Given the description of an element on the screen output the (x, y) to click on. 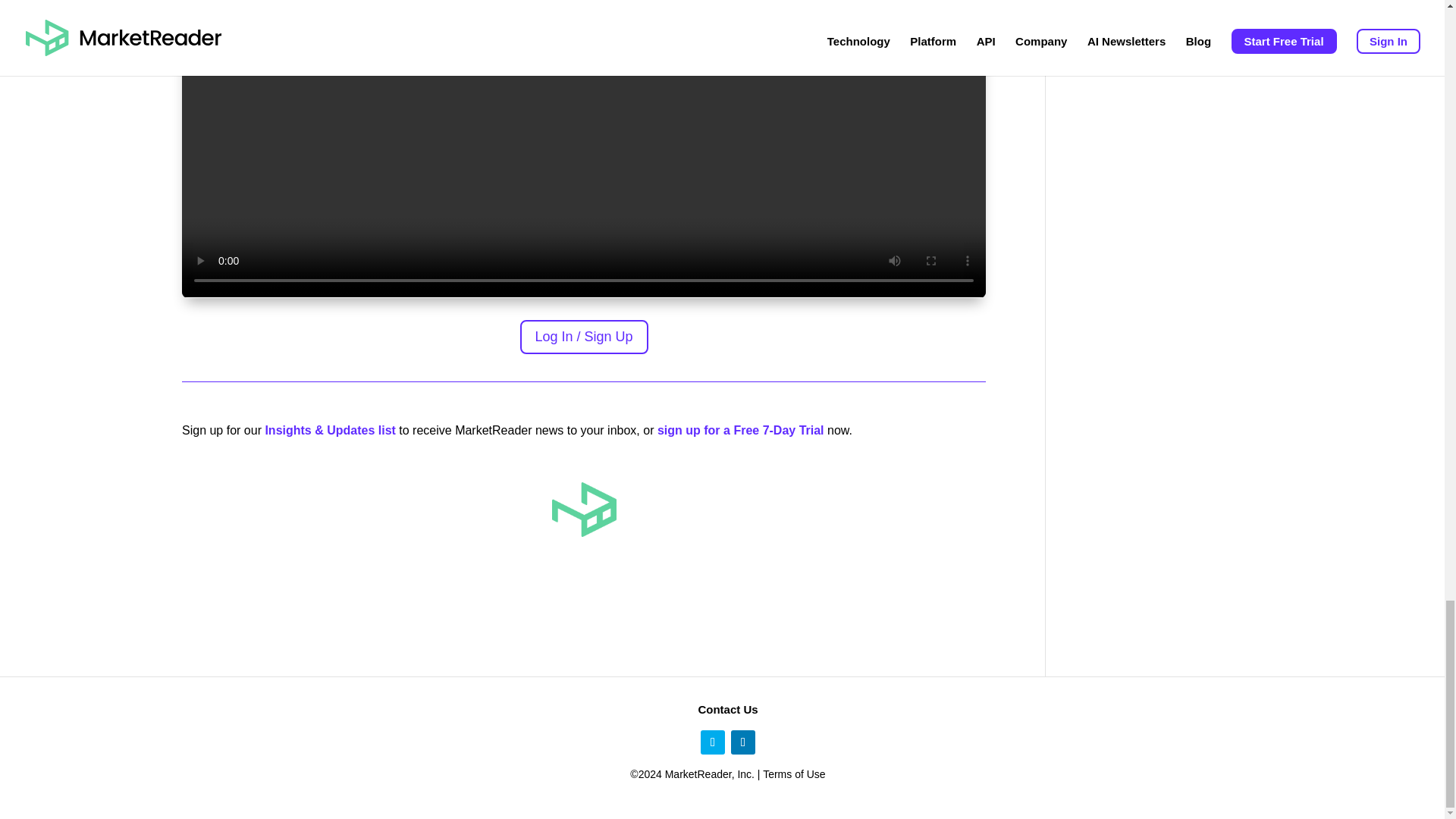
Follow on Twitter (712, 742)
sign up for a Free 7-Day Trial (741, 430)
Follow on LinkedIn (742, 742)
